Given the description of an element on the screen output the (x, y) to click on. 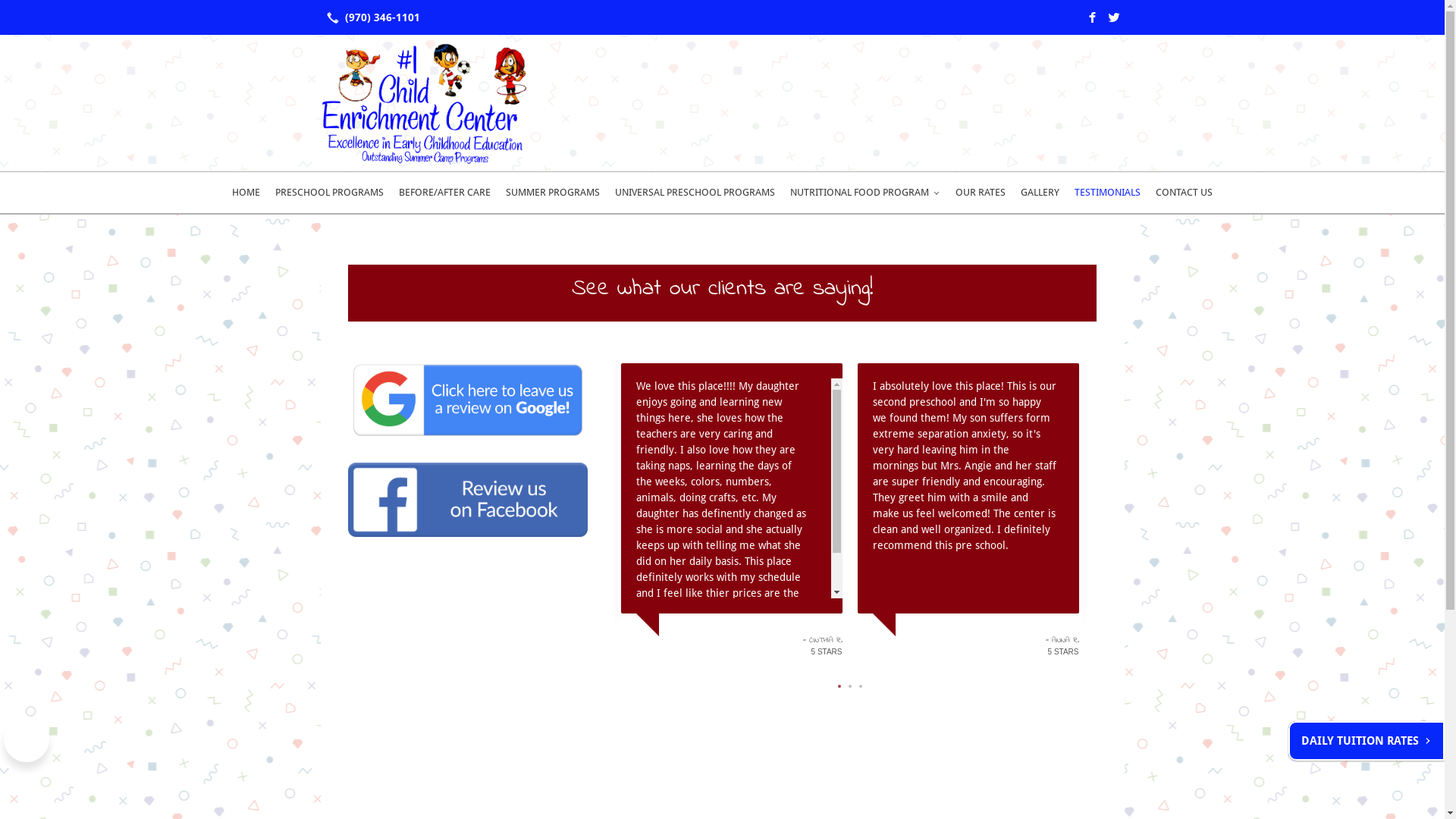
HOME Element type: text (245, 192)
GALLERY Element type: text (1039, 192)
UNIVERSAL PRESCHOOL PROGRAMS Element type: text (694, 192)
DAILY TUITION RATES Element type: text (1366, 740)
PRESCHOOL PROGRAMS Element type: text (329, 192)
OUR RATES Element type: text (980, 192)
3 Element type: text (859, 685)
SUMMER PROGRAMS Element type: text (552, 192)
TESTIMONIALS Element type: text (1107, 192)
Twitter Element type: hover (1112, 17)
2 Element type: text (848, 685)
CONTACT US Element type: text (1184, 192)
(970) 346-1101 Element type: hover (369, 17)
BEFORE/AFTER CARE Element type: text (444, 192)
1 Element type: text (838, 685)
Facebook Element type: hover (1091, 17)
